Given the description of an element on the screen output the (x, y) to click on. 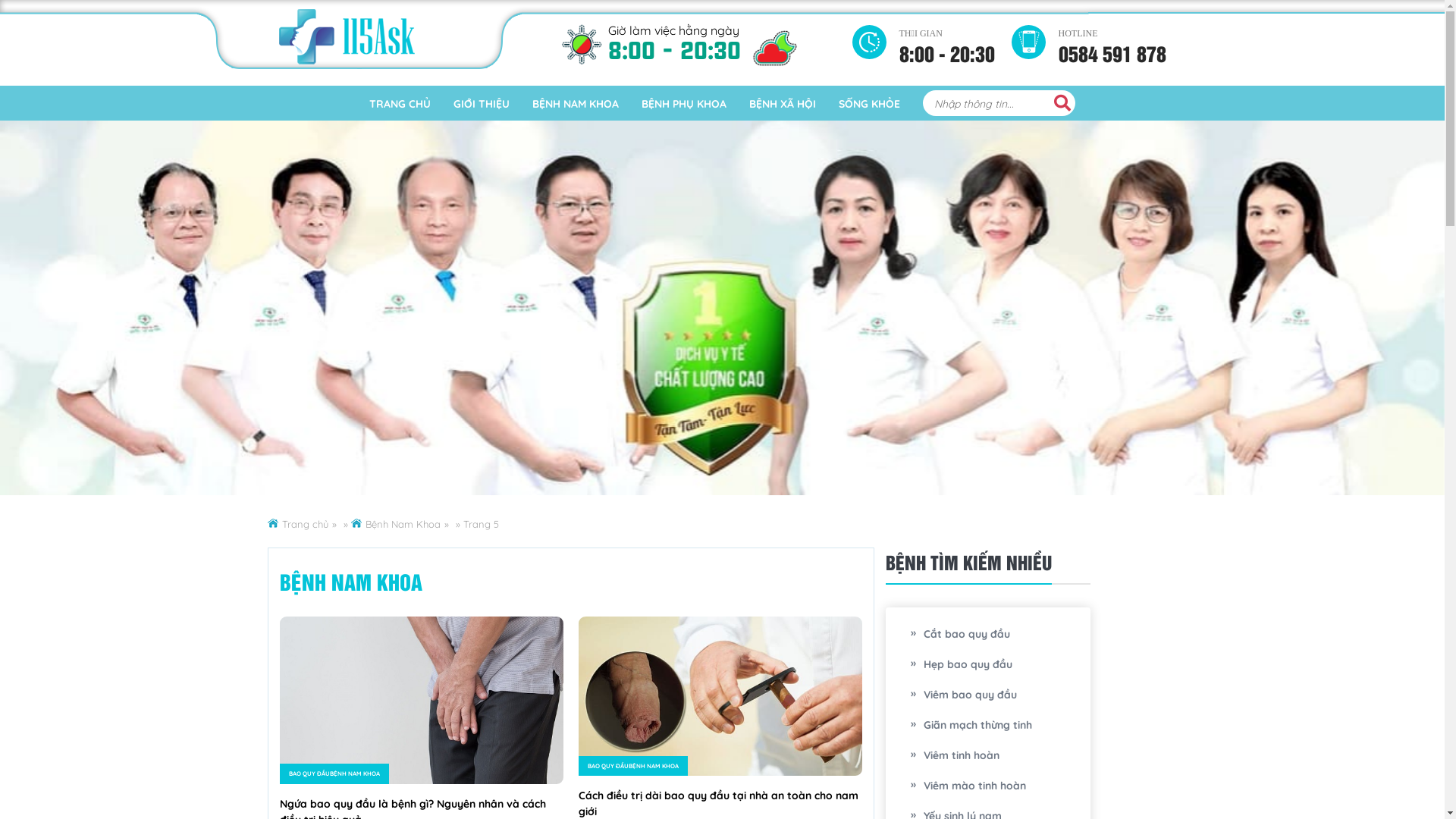
HOTLINE
0584 591 878 Element type: text (1112, 39)
